Given the description of an element on the screen output the (x, y) to click on. 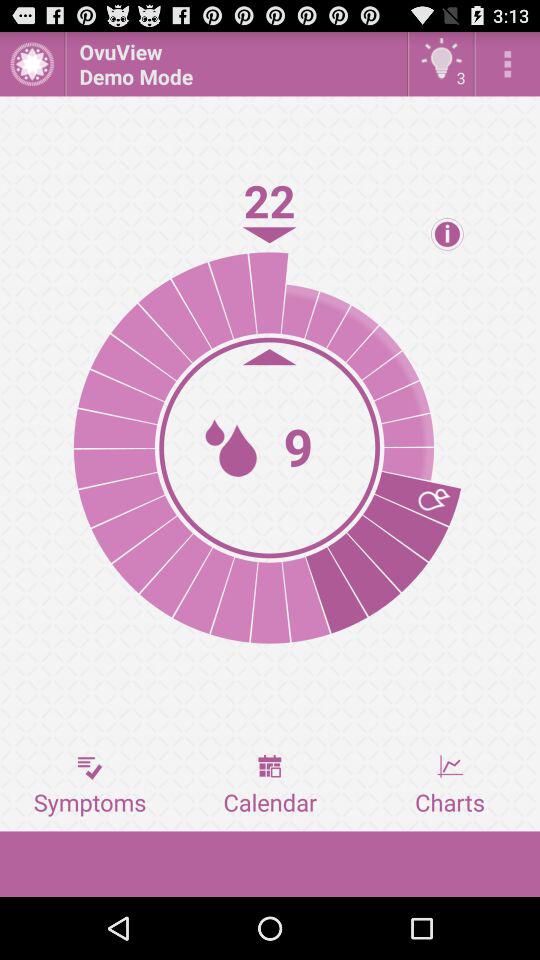
more options (507, 63)
